Given the description of an element on the screen output the (x, y) to click on. 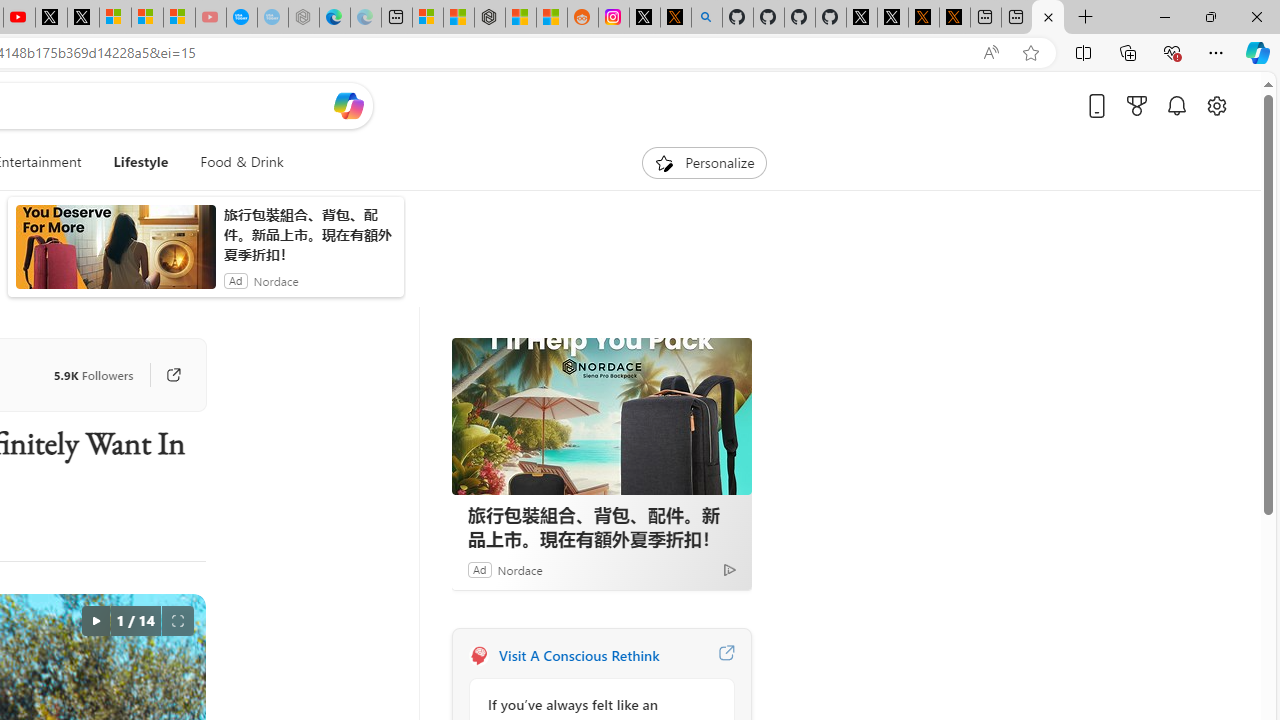
hotels-header-icon (490, 632)
Hotels in Bangkok (563, 631)
Descarga Driver Updater (118, 88)
The most popular Google 'how to' searches - Sleeping (241, 17)
Heat - Severe Heat severe warning (696, 367)
Daily (571, 411)
GitHub (@github) / X (861, 17)
Nordace - Duffels (458, 17)
Health (33, 267)
You're following FOX News (92, 573)
Real Estate (290, 267)
